Given the description of an element on the screen output the (x, y) to click on. 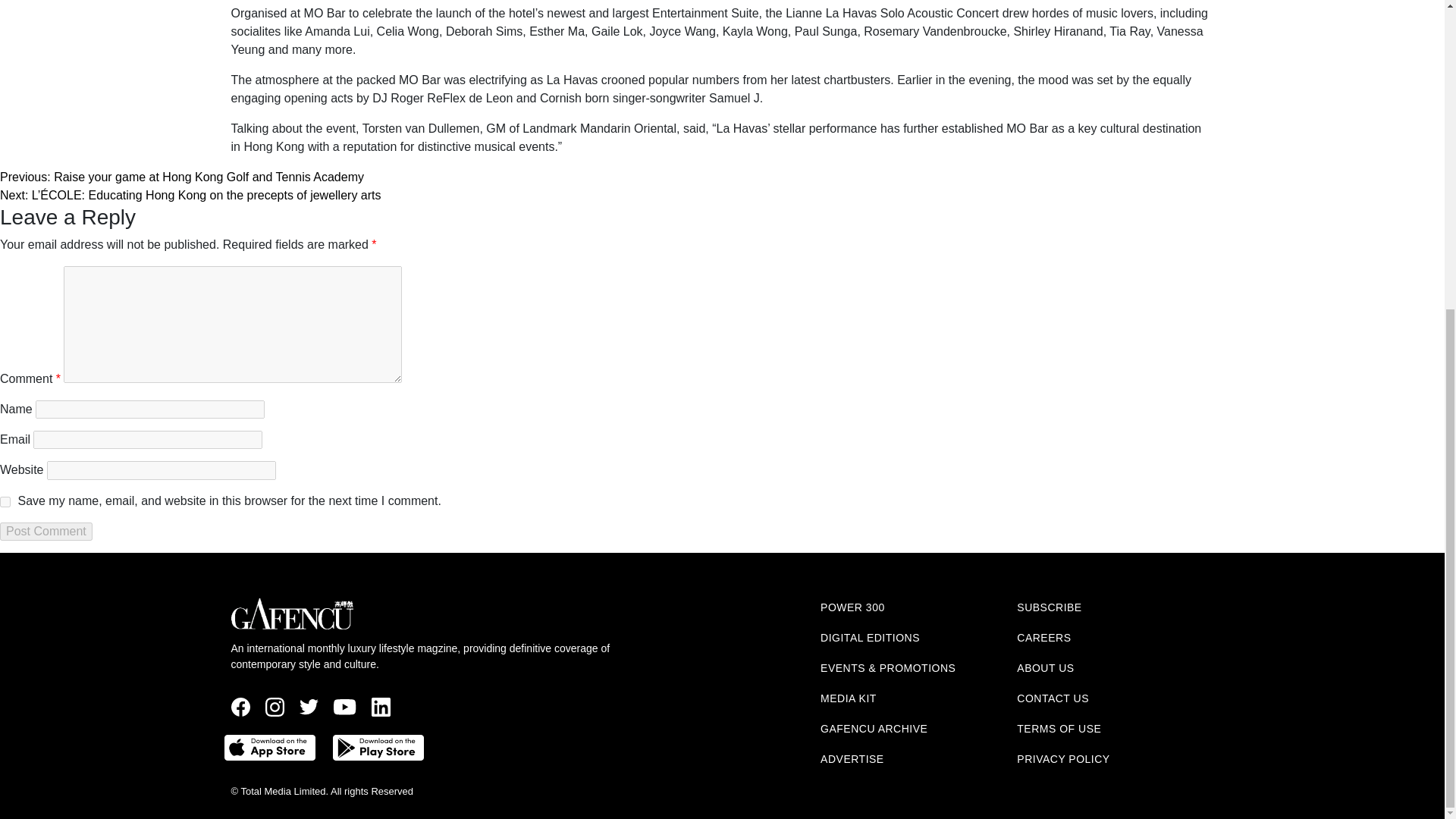
ABOUT US (1045, 667)
ADVERTISE (852, 758)
GAFENCU ARCHIVE (874, 728)
POWER 300 (853, 607)
CONTACT US (1052, 698)
DIGITAL EDITIONS (870, 637)
TERMS OF USE (1058, 728)
CAREERS (1043, 637)
yes (5, 501)
Post Comment (46, 531)
